Given the description of an element on the screen output the (x, y) to click on. 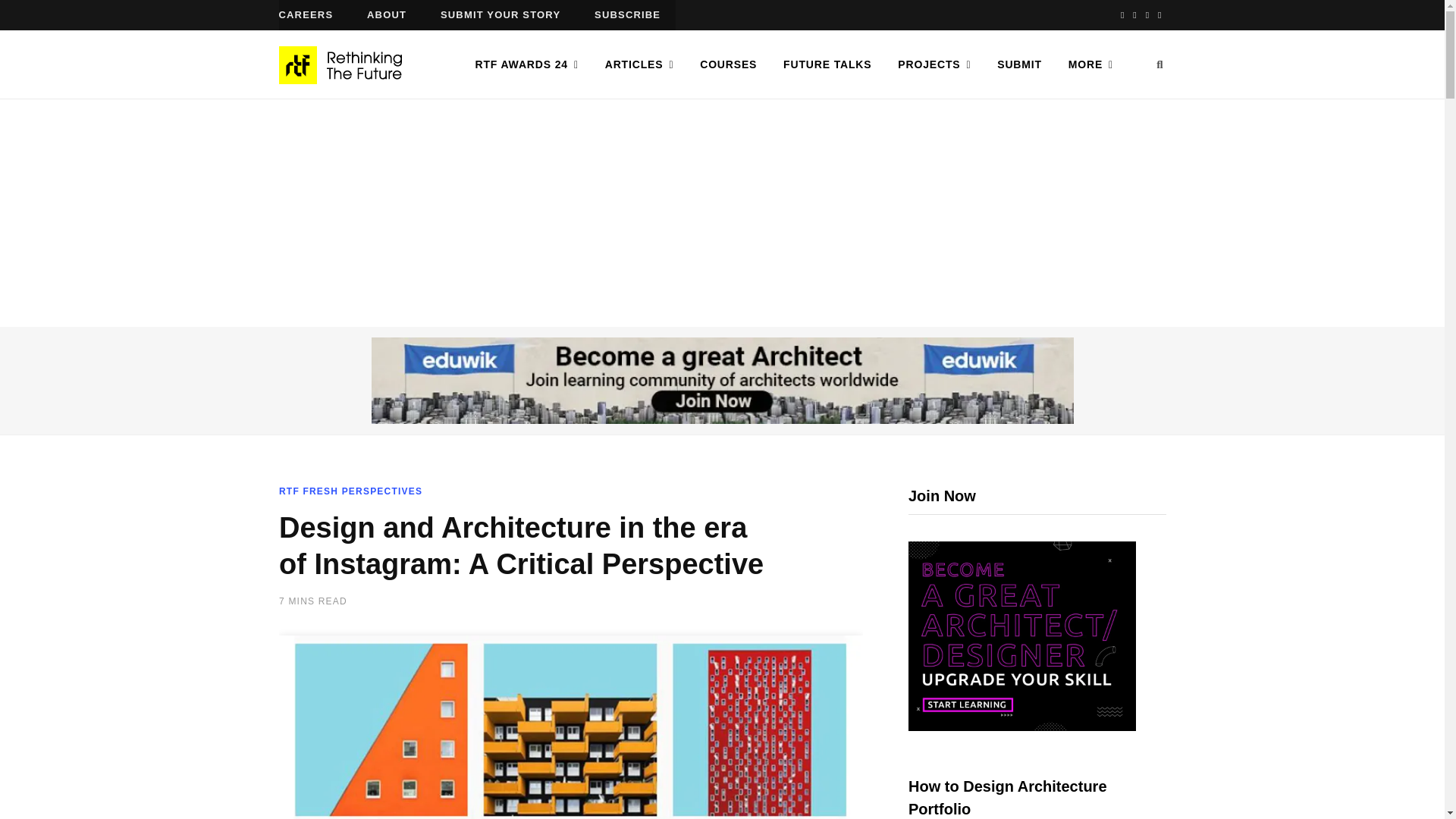
RTF AWARDS 24 (526, 64)
CAREERS (306, 15)
SUBSCRIBE (627, 15)
SUBMIT YOUR STORY (500, 15)
ABOUT (387, 15)
